Given the description of an element on the screen output the (x, y) to click on. 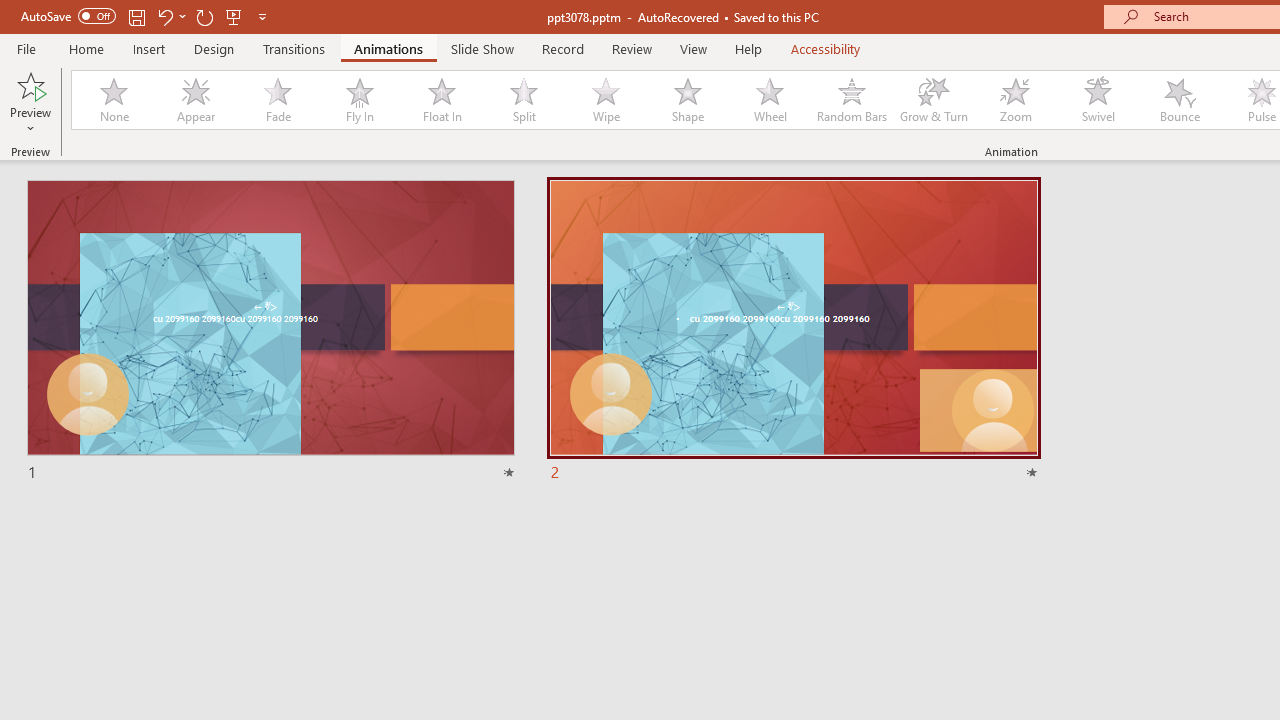
Wheel (770, 100)
Swivel (1098, 100)
Fly In (359, 100)
Wipe (605, 100)
None (113, 100)
